Given the description of an element on the screen output the (x, y) to click on. 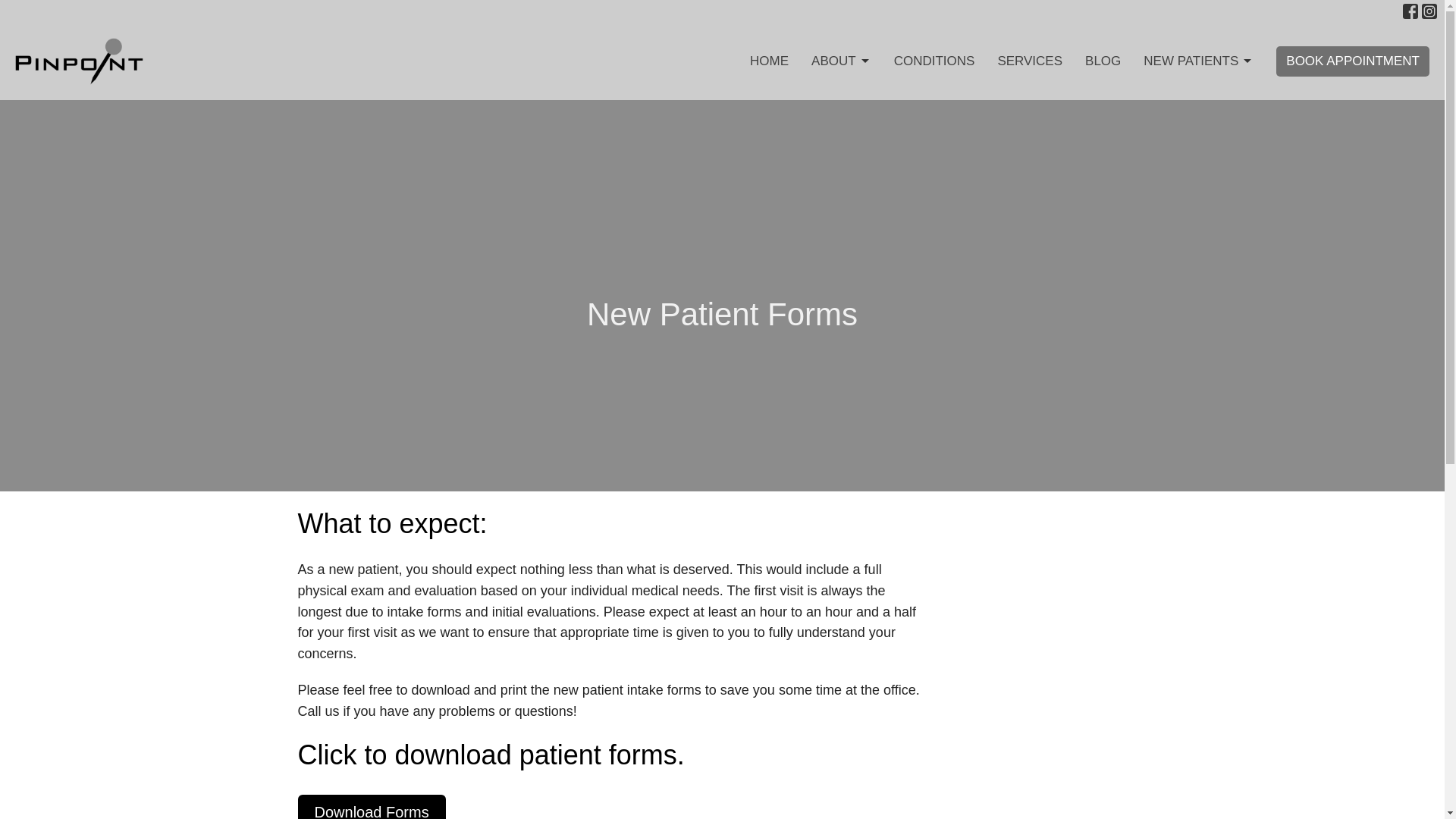
SERVICES (1029, 61)
ABOUT (840, 61)
HOME (769, 61)
BOOK APPOINTMENT (1352, 60)
NEW PATIENTS (1197, 61)
CONDITIONS (934, 61)
BLOG (1102, 61)
Download Forms (371, 806)
